Given the description of an element on the screen output the (x, y) to click on. 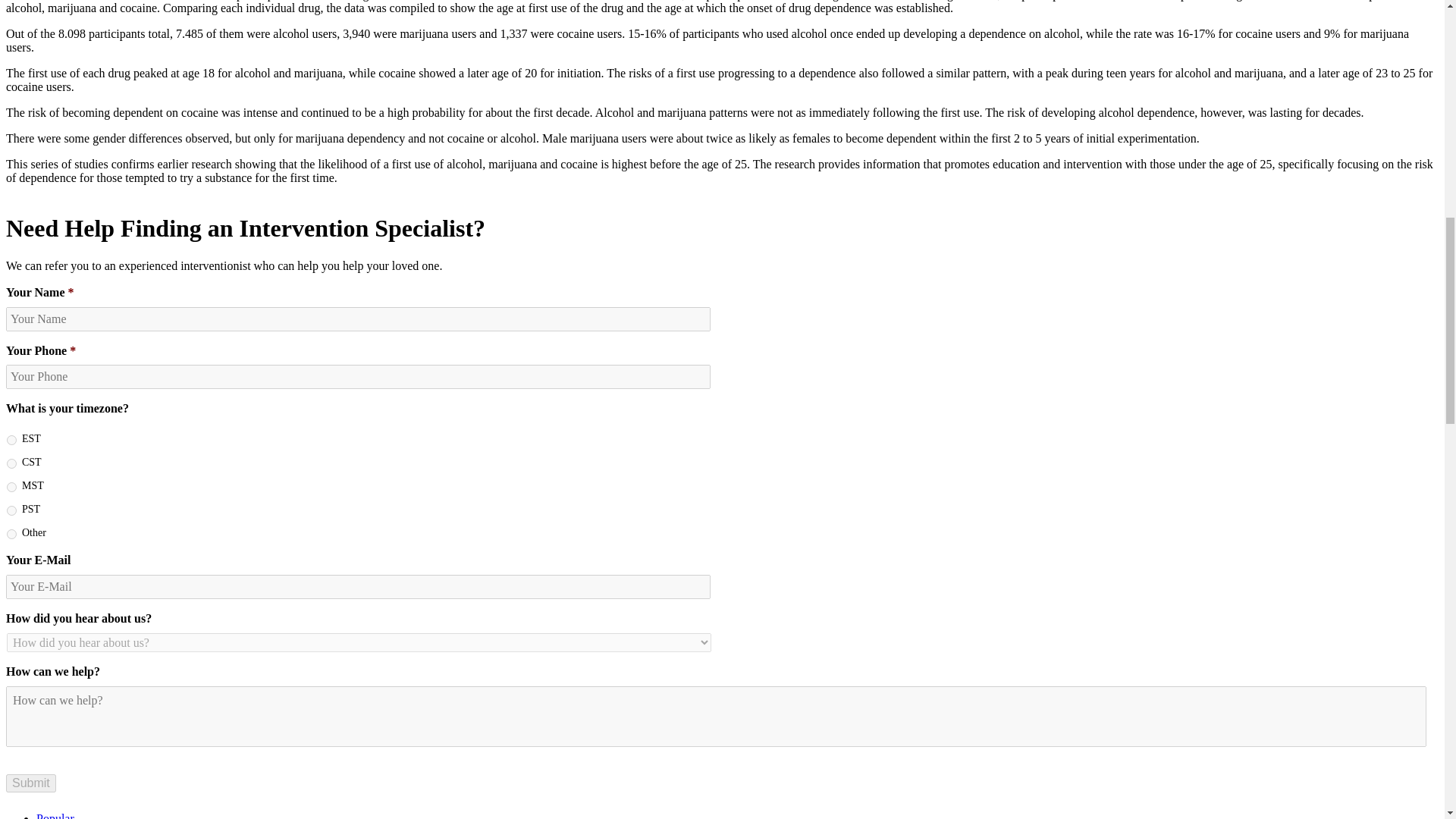
Submit (30, 782)
Submit (30, 782)
CST (11, 463)
PST (11, 510)
EST (11, 439)
Other (11, 533)
MST (11, 487)
